Given the description of an element on the screen output the (x, y) to click on. 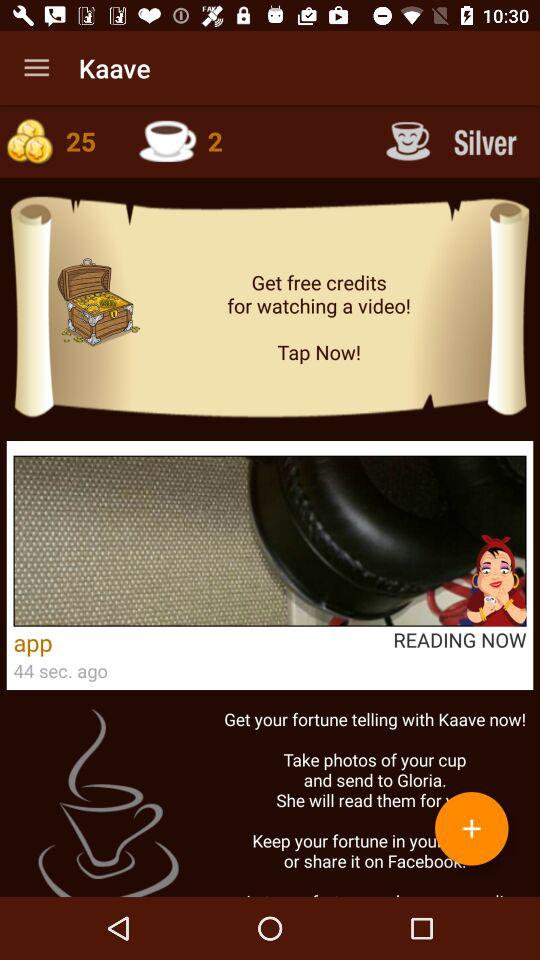
open item below kaave icon (193, 140)
